Given the description of an element on the screen output the (x, y) to click on. 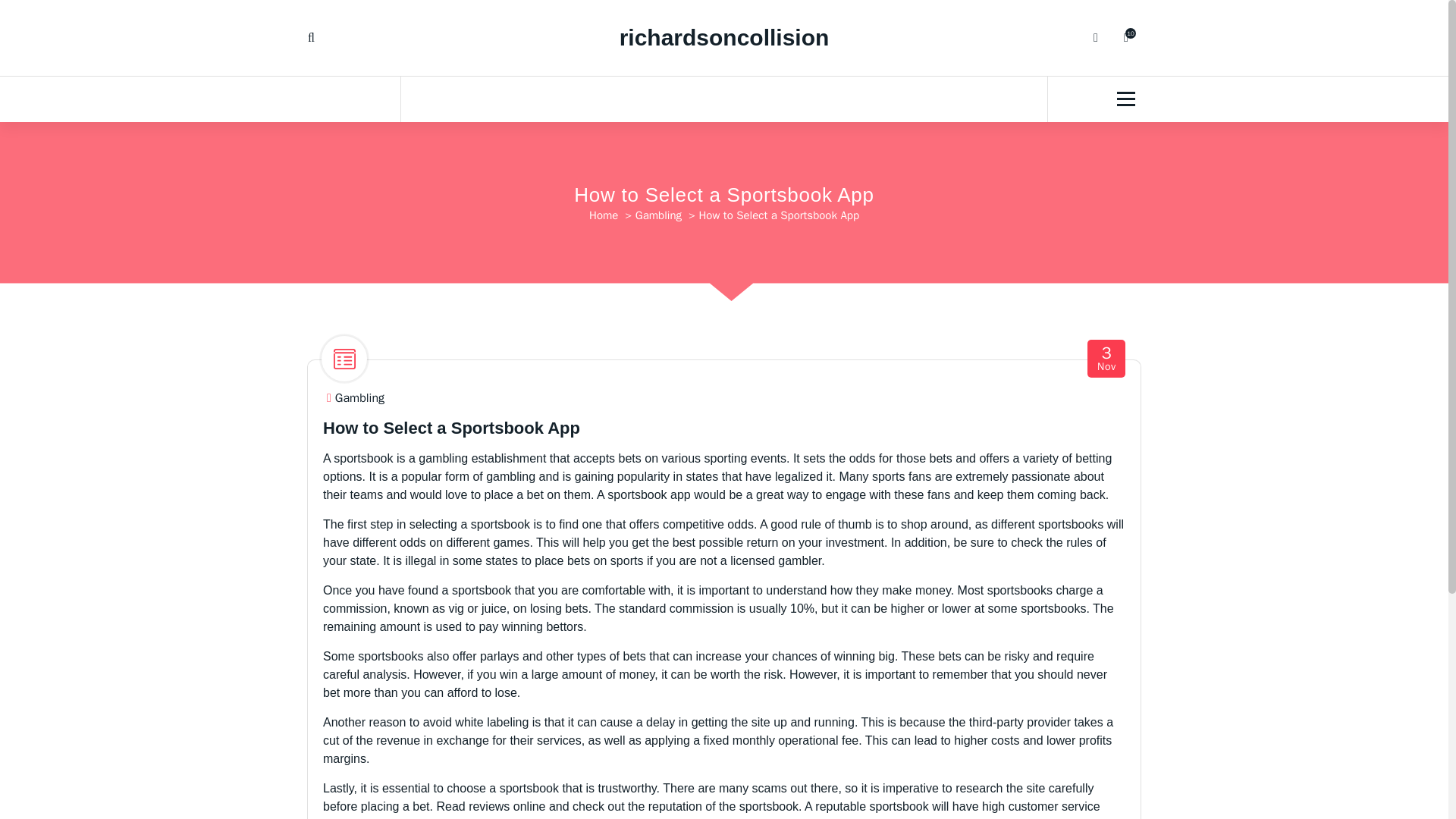
richardsoncollision (724, 37)
Gambling (1107, 358)
Home (359, 398)
1069 (603, 214)
Gambling (1125, 37)
